Given the description of an element on the screen output the (x, y) to click on. 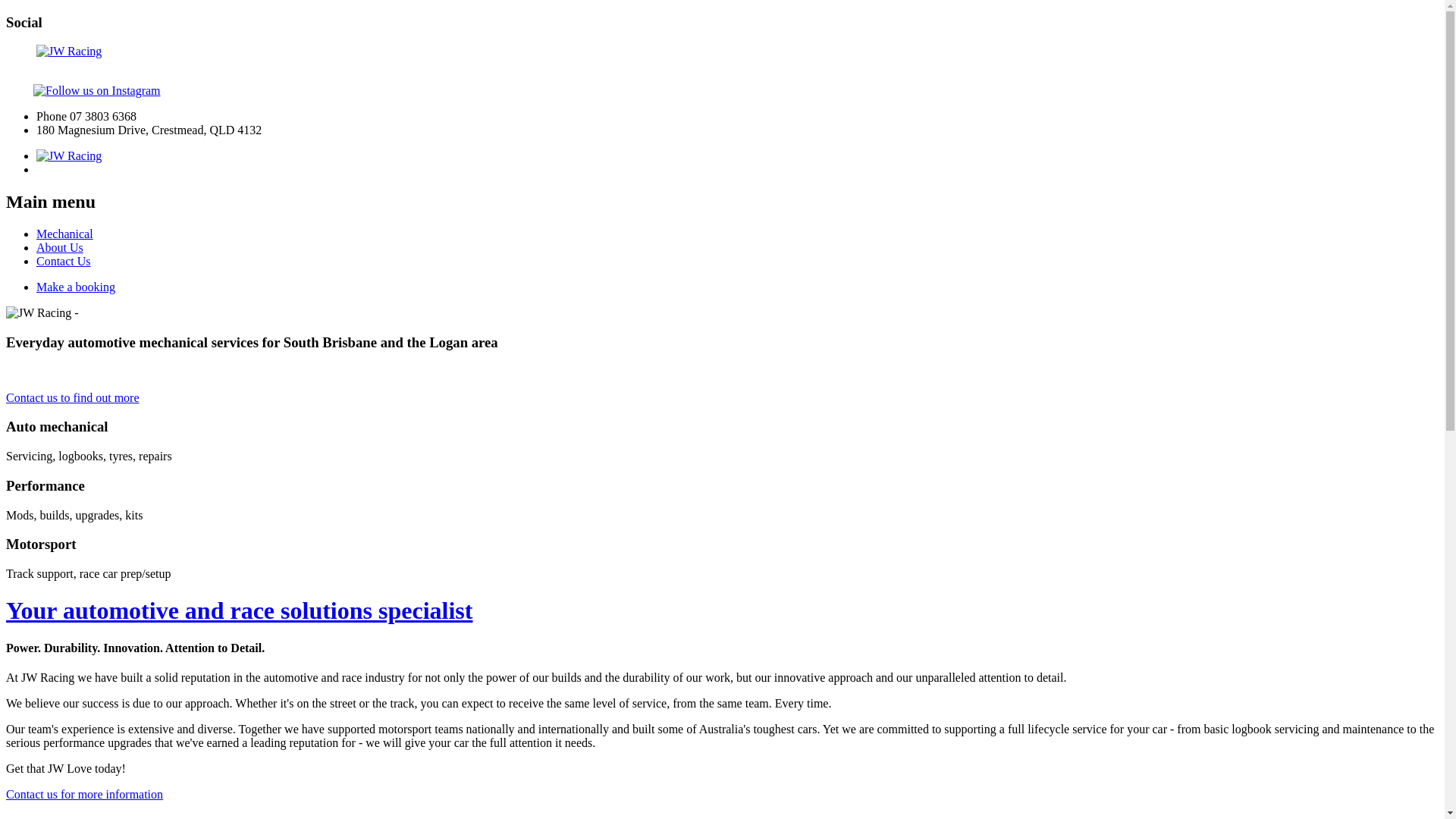
Mechanical Element type: text (64, 233)
Visit us on Facebook Element type: hover (18, 90)
JW Racing - Automotive and race solutions Element type: hover (722, 51)
Contact us for more information Element type: text (84, 793)
Contact us to find out more Element type: text (72, 397)
Follow us on Instagram Element type: hover (96, 90)
Make a booking Element type: text (75, 286)
Your automotive and race solutions specialist Element type: text (239, 610)
About Us Element type: text (59, 247)
Contact Us Element type: text (63, 260)
